Given the description of an element on the screen output the (x, y) to click on. 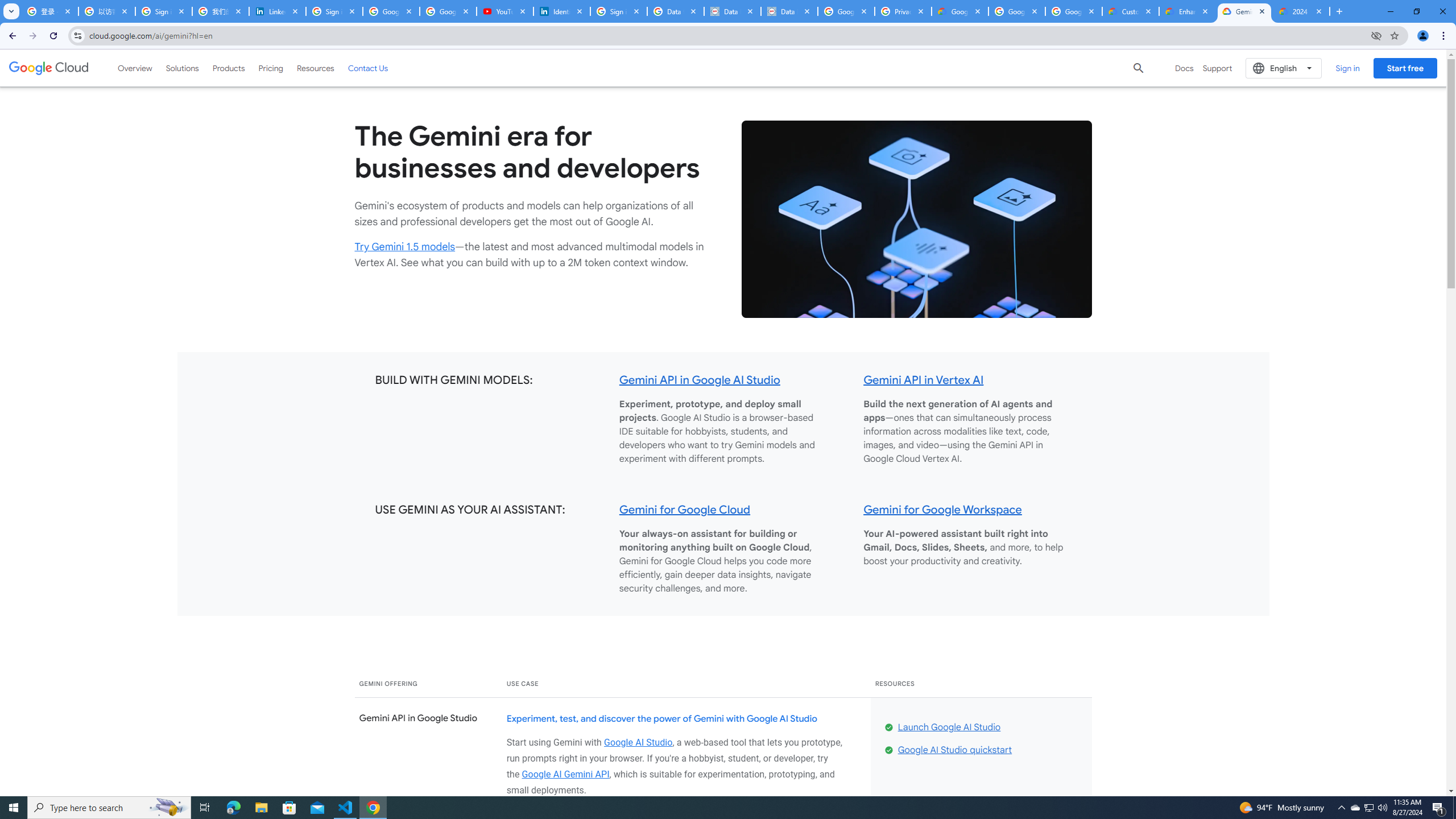
Gemini for Google Cloud (684, 509)
Try Gemini 1.5 models (404, 246)
Data Privacy Framework (731, 11)
Enhanced Support | Google Cloud (1187, 11)
Sign in - Google Accounts (618, 11)
Gemini API in Google AI Studio (699, 379)
